Given the description of an element on the screen output the (x, y) to click on. 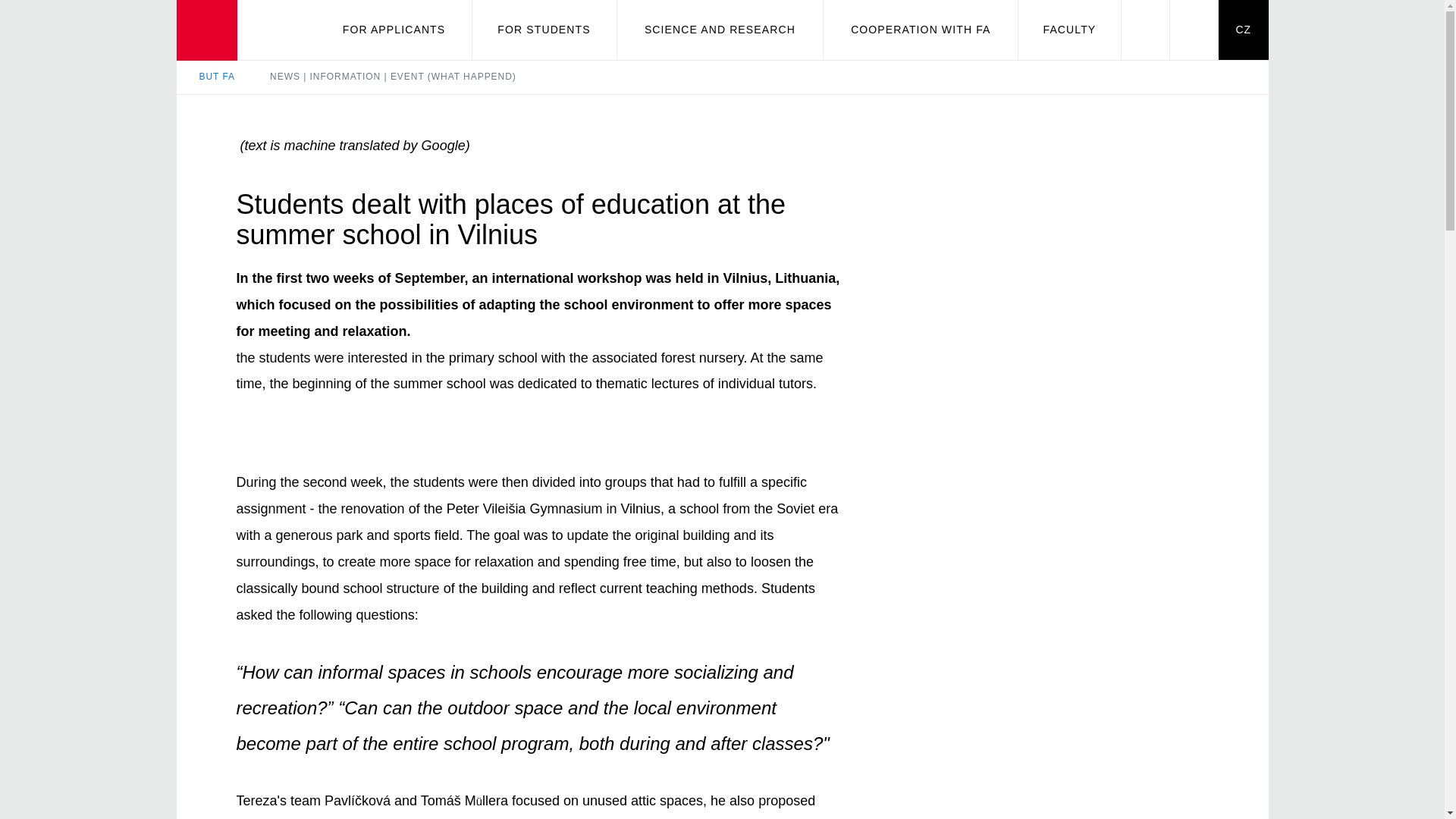
FOR STUDENTS (543, 29)
FOR APPLICANTS (394, 29)
COOPERATION WITH FA (920, 29)
SCIENCE AND RESEARCH (720, 29)
FACULTY (1068, 29)
